Given the description of an element on the screen output the (x, y) to click on. 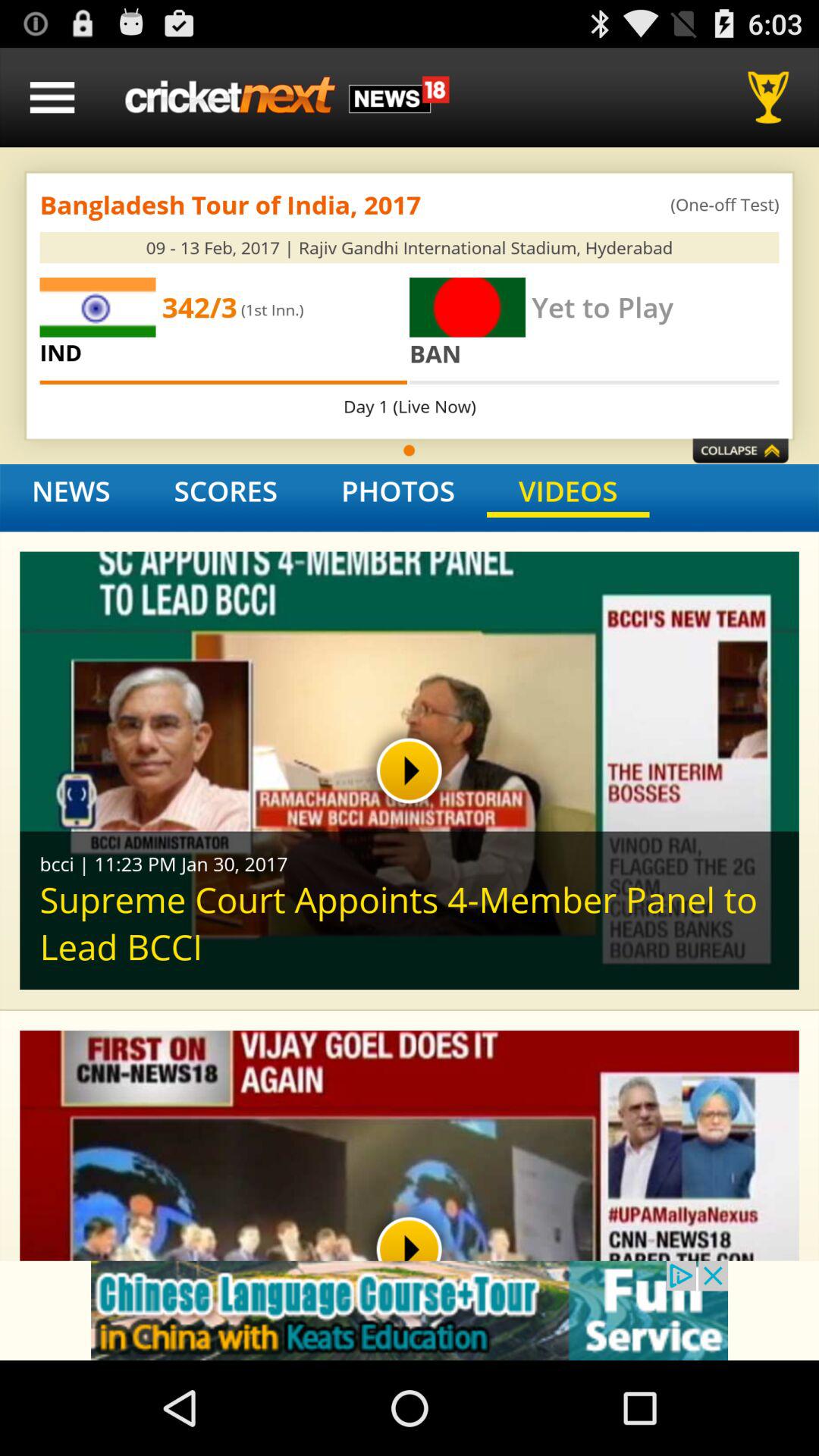
searching area (286, 97)
